Given the description of an element on the screen output the (x, y) to click on. 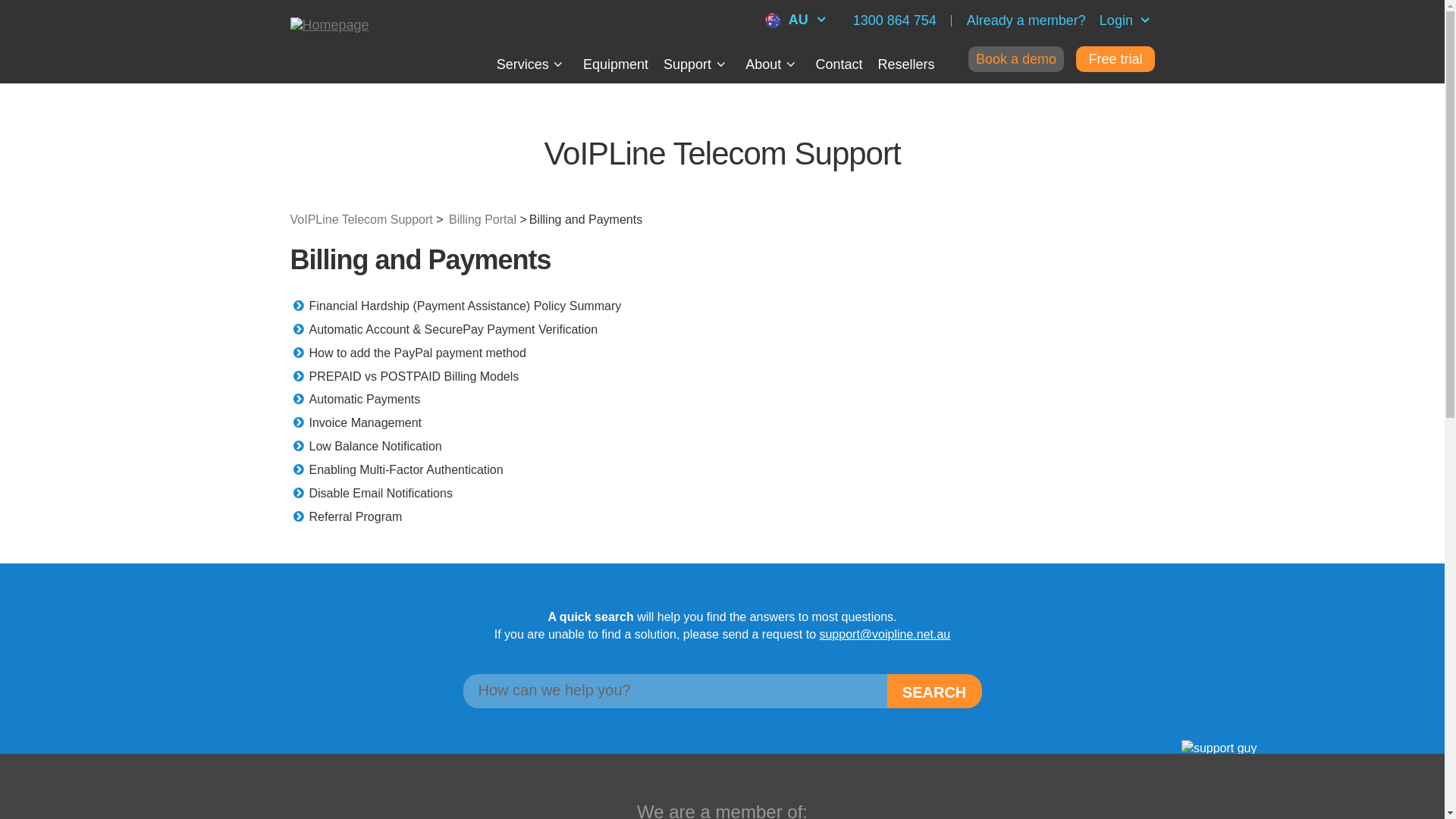
Billing Portal (475, 219)
Free trial (1114, 58)
1300 864 754 (894, 20)
Search (933, 691)
VoIPLine Telecom Support (360, 219)
Billing and Payments (580, 219)
Book a demo (1016, 58)
Support (696, 64)
Equipment (615, 64)
About (772, 64)
Services (531, 64)
AU (797, 20)
